Given the description of an element on the screen output the (x, y) to click on. 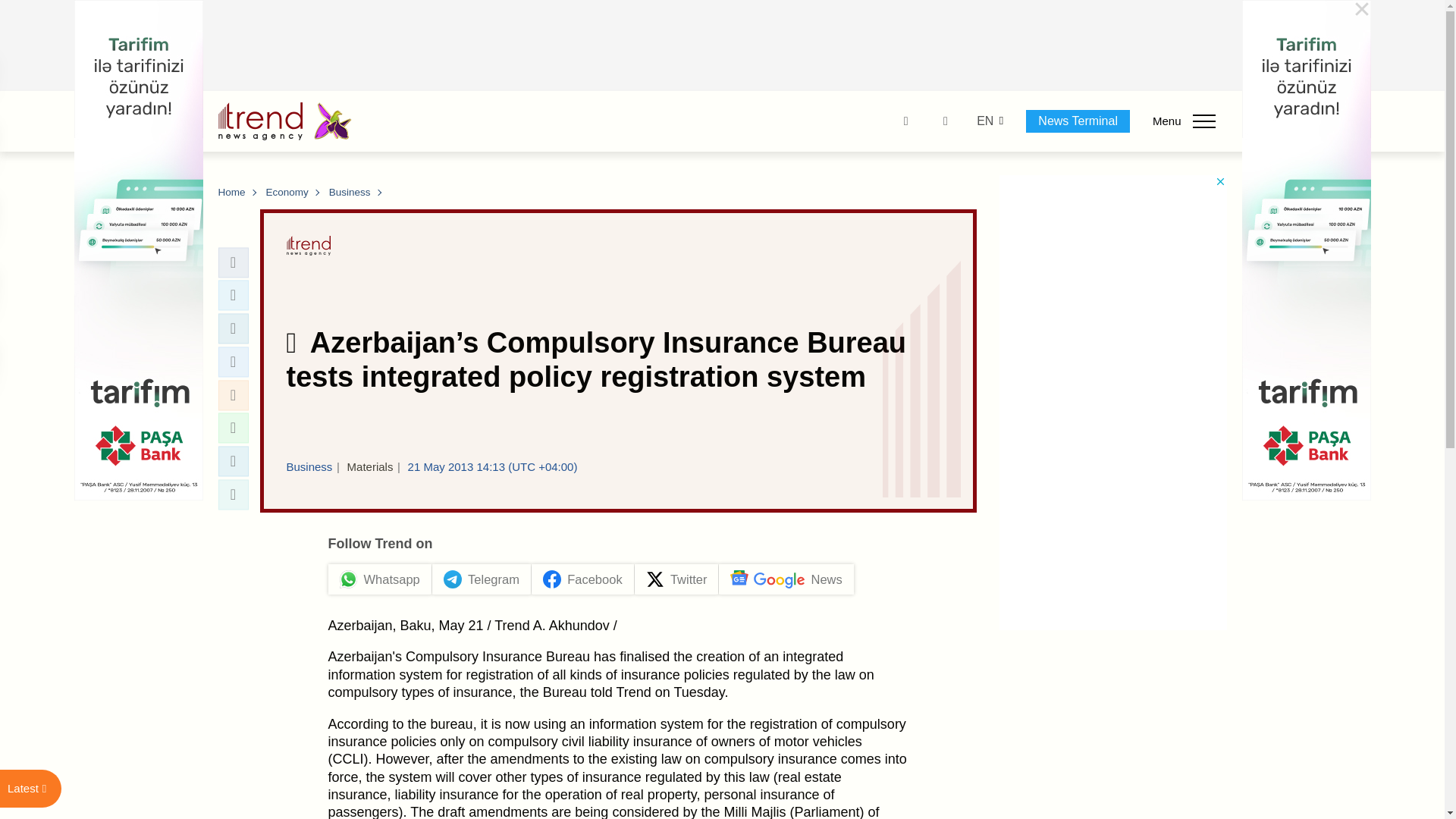
3rd party ad content (722, 45)
News Terminal (1077, 120)
EN (984, 121)
English (984, 121)
